Given the description of an element on the screen output the (x, y) to click on. 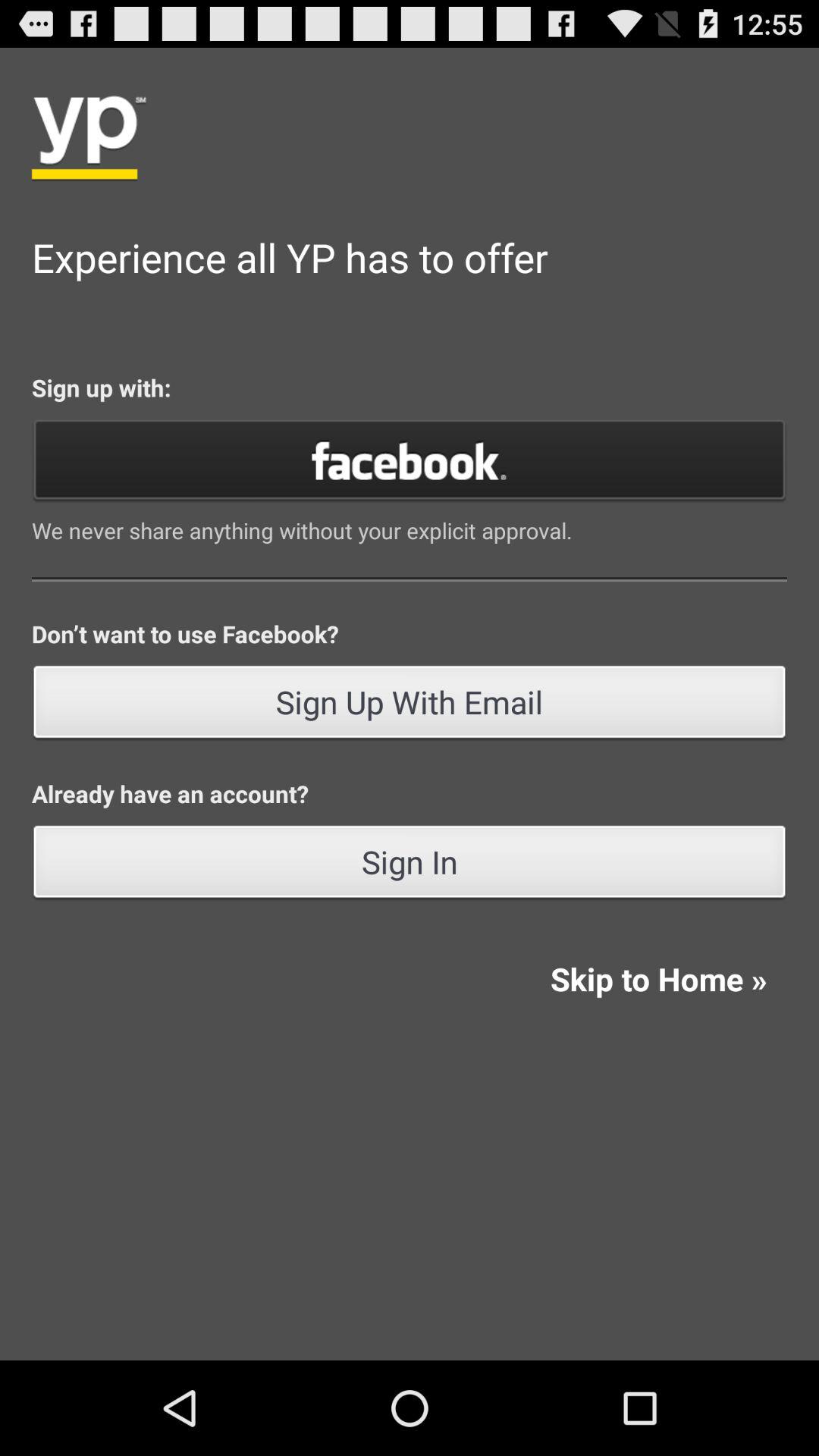
tap the app above the we never share (409, 459)
